Given the description of an element on the screen output the (x, y) to click on. 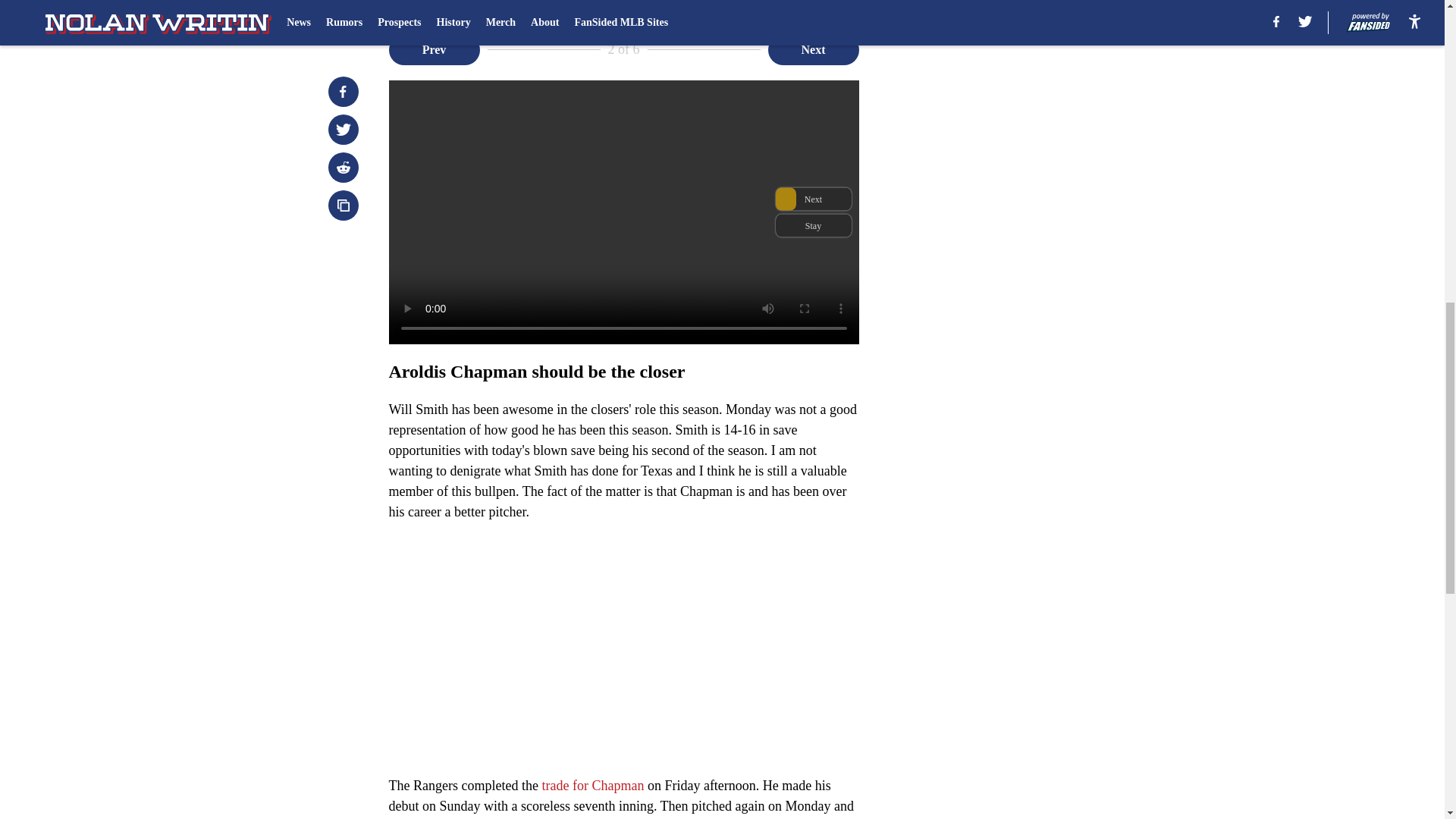
Next (813, 50)
3rd party ad content (1047, 129)
Prev (433, 50)
trade for Chapman (593, 785)
3rd party ad content (1047, 349)
